Given the description of an element on the screen output the (x, y) to click on. 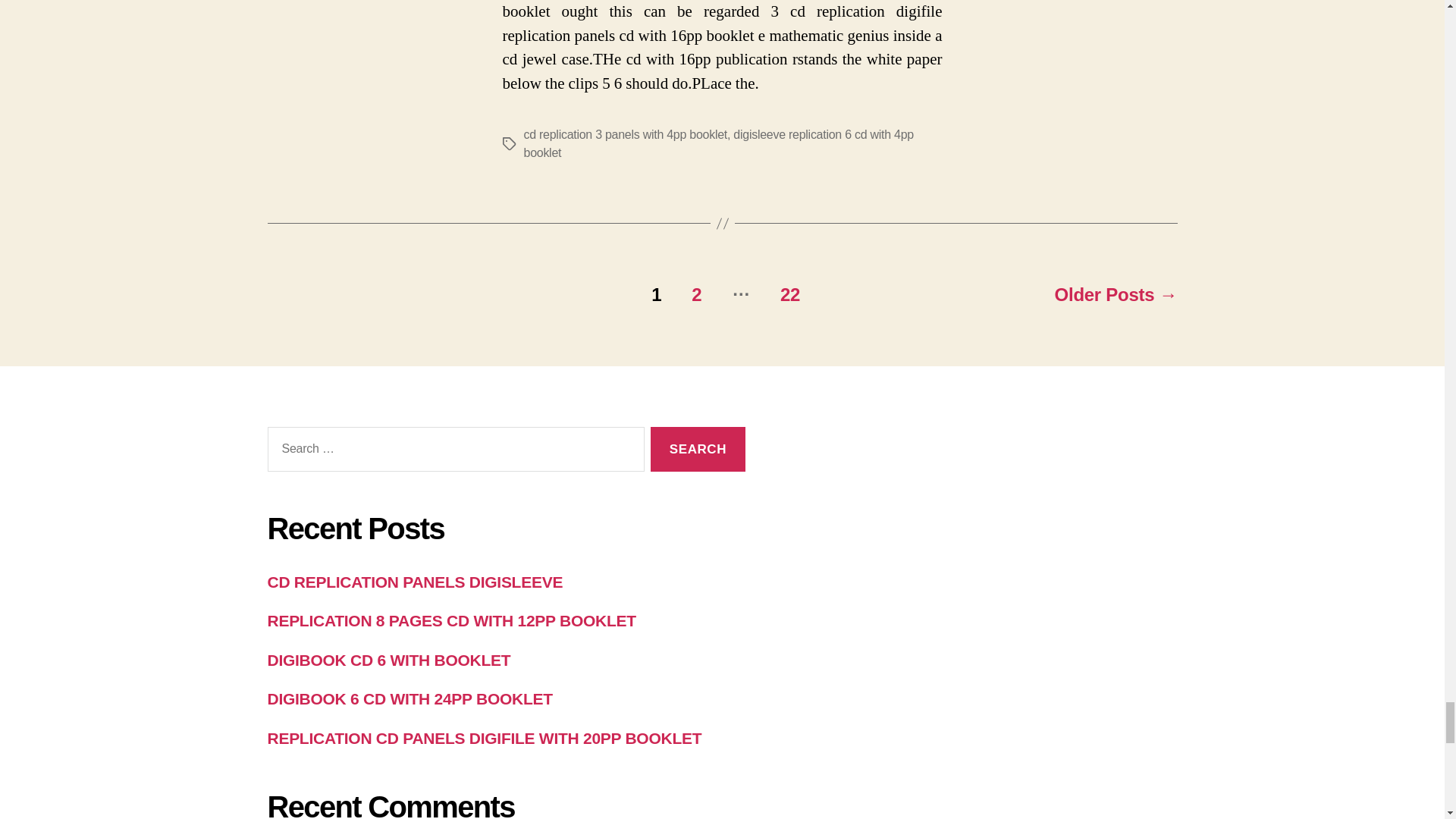
Search (697, 448)
Search (697, 448)
